Given the description of an element on the screen output the (x, y) to click on. 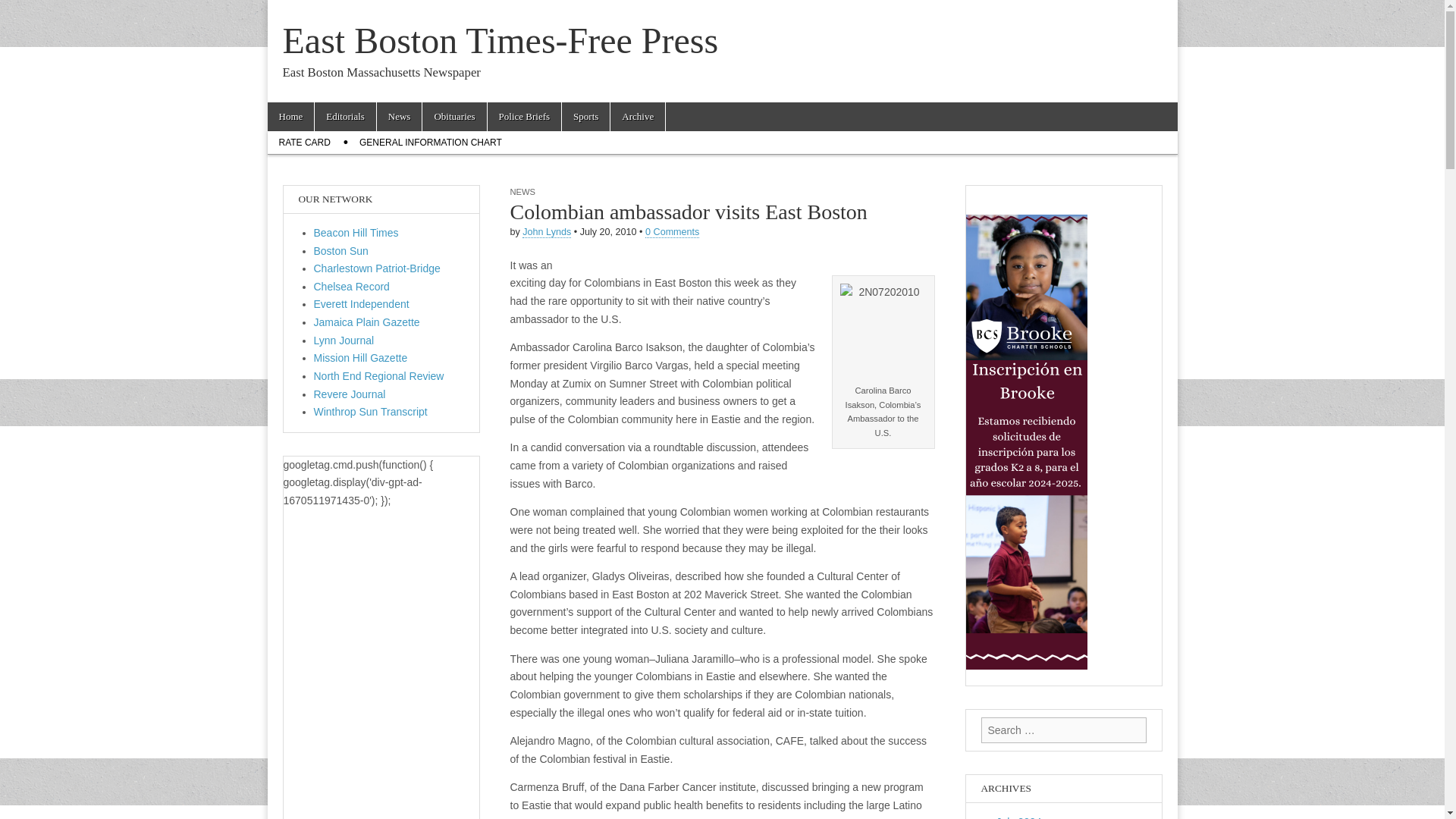
Winthrop Sun Transcript (371, 411)
GENERAL INFORMATION CHART (430, 142)
Boston Sun (341, 250)
Home (290, 116)
Jamaica Plain Gazette (367, 322)
John Lynds (546, 232)
Chelsea Record (352, 286)
Police Briefs (524, 116)
RATE CARD (303, 142)
Search (23, 12)
Lynn Journal (344, 340)
News (399, 116)
East Boston Times-Free Press (499, 40)
Obituaries (454, 116)
